Given the description of an element on the screen output the (x, y) to click on. 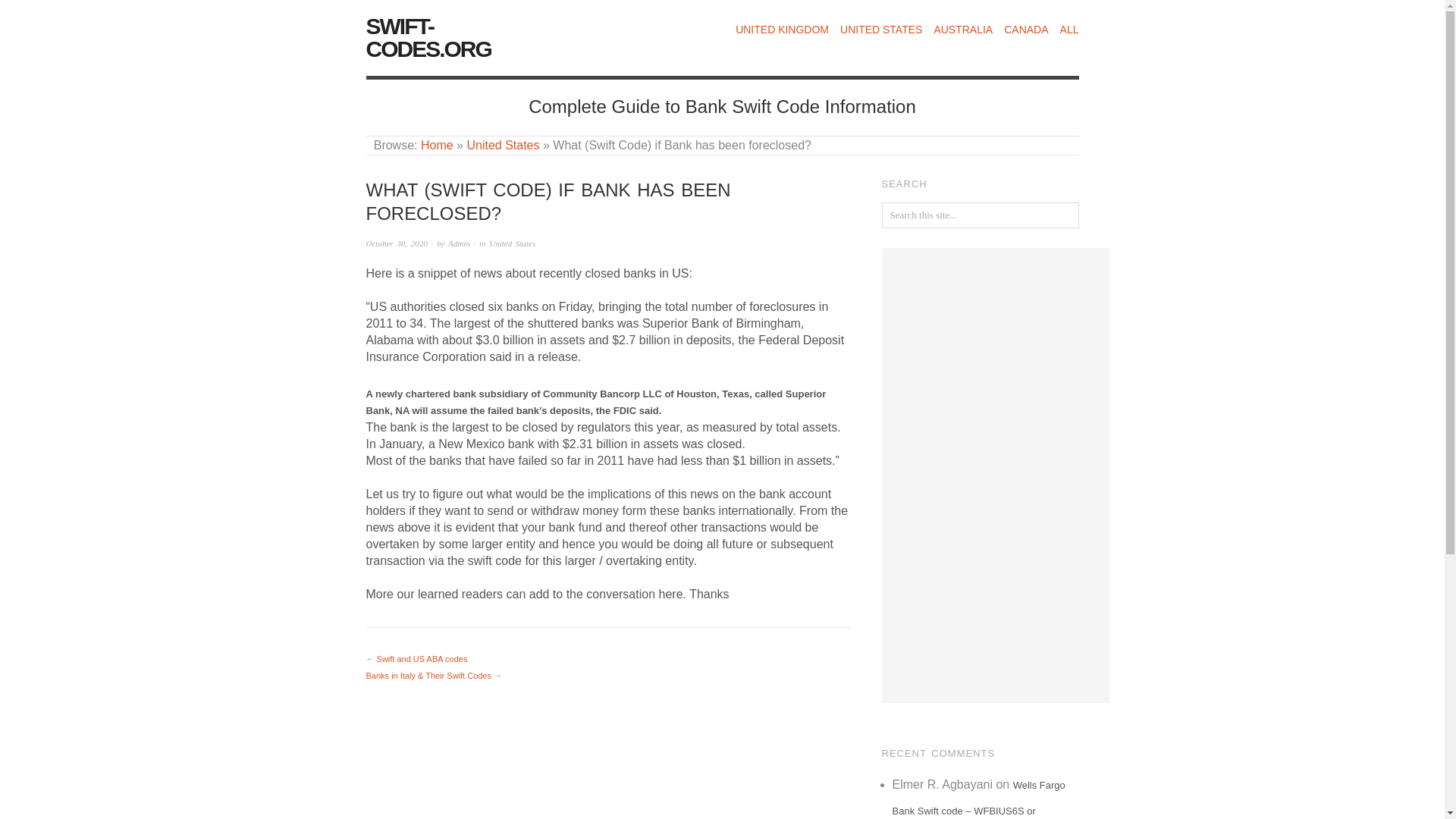
UNITED KINGDOM (781, 29)
AUSTRALIA (962, 29)
SWIFT-CODES.ORG (427, 37)
October 30, 2020 (395, 243)
Search this site... (979, 215)
Admin (459, 243)
CANADA (1026, 29)
Swift-Codes.Org (436, 144)
United States (501, 144)
Swift and US ABA codes (422, 658)
